Given the description of an element on the screen output the (x, y) to click on. 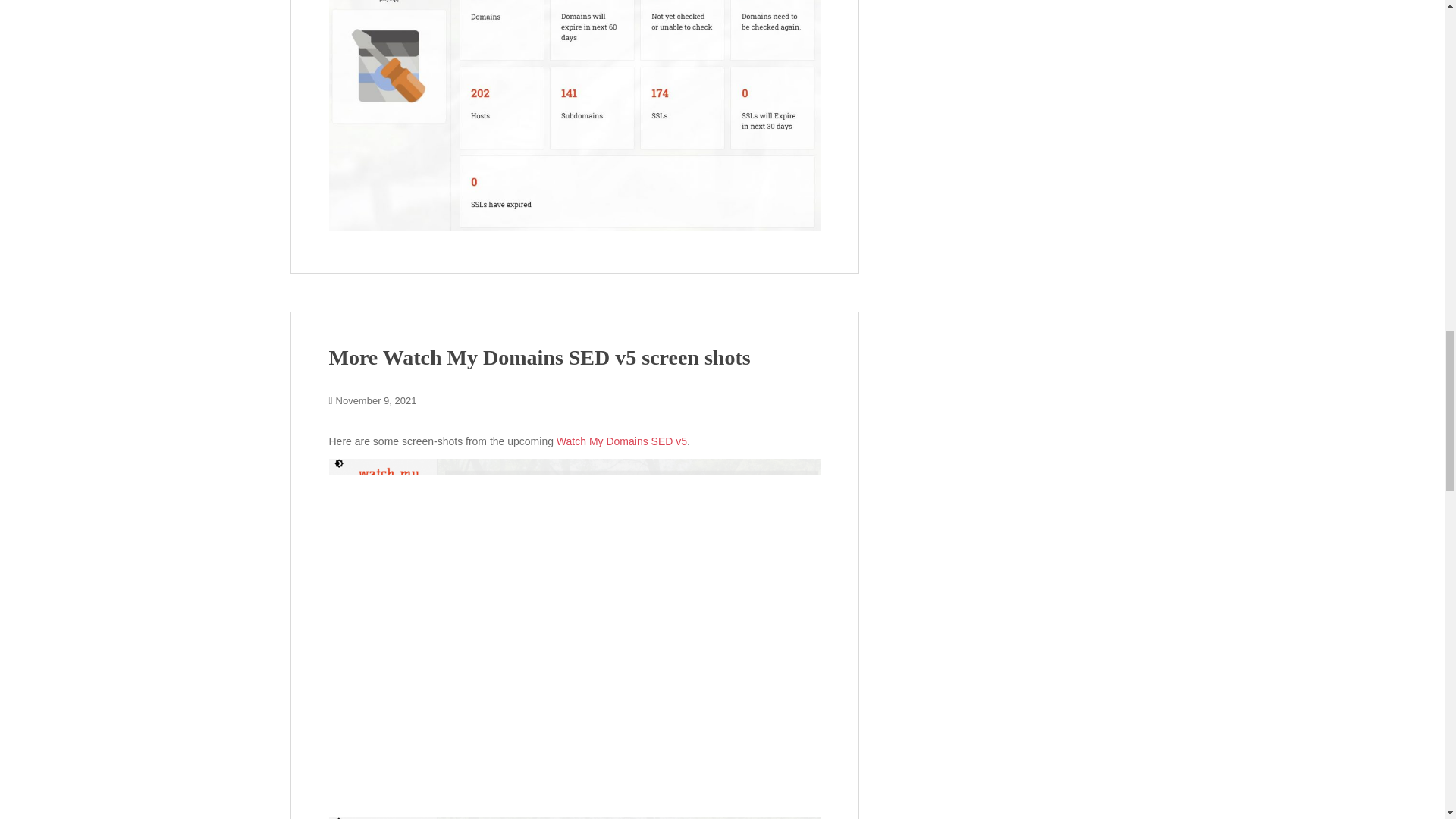
Watch My Domains SED v5 (621, 440)
More Watch My Domains SED v5 screen shots (540, 357)
November 9, 2021 (376, 400)
